Given the description of an element on the screen output the (x, y) to click on. 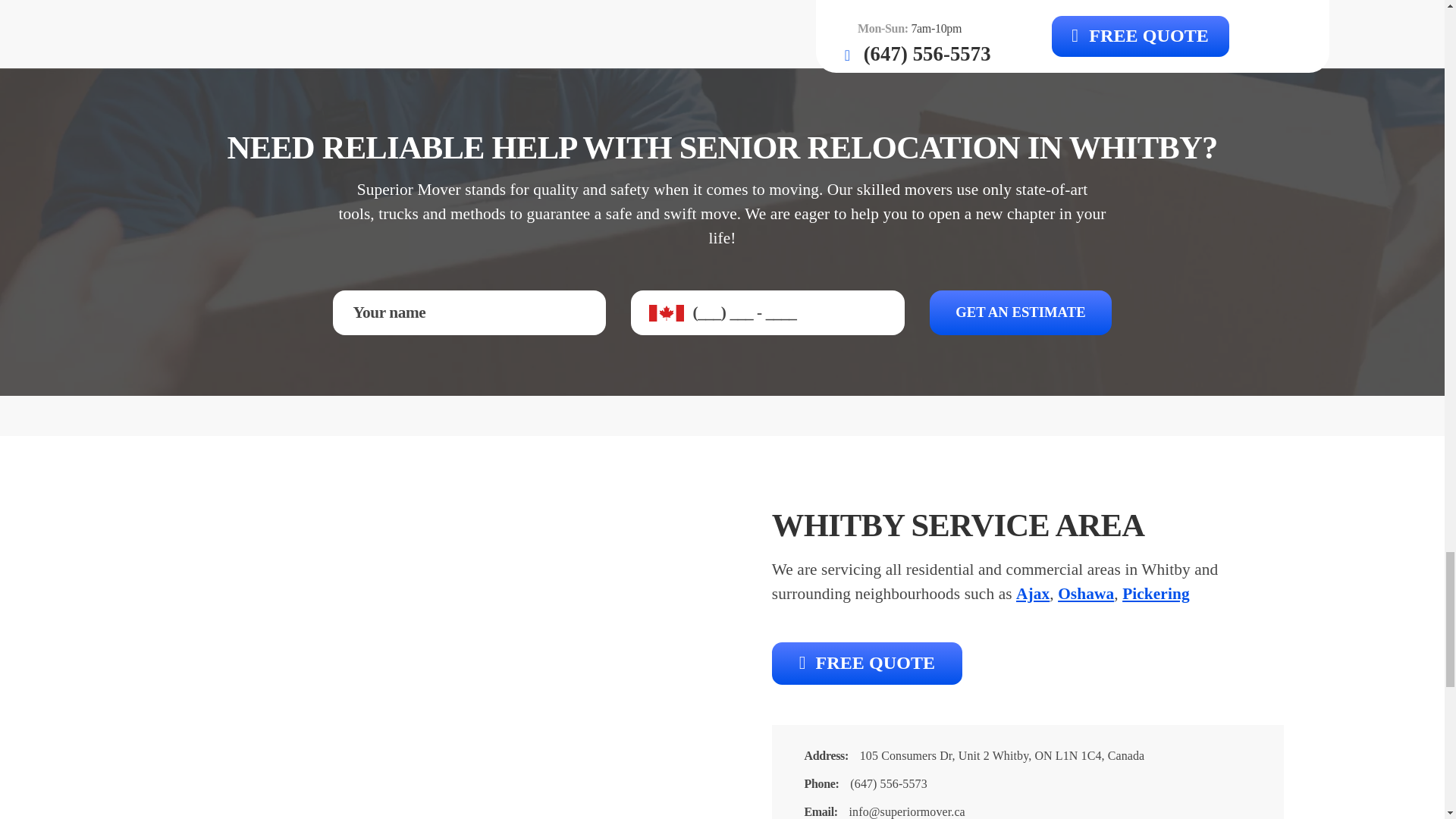
Ajax (1032, 593)
Pickering (1155, 593)
Oshawa (1085, 593)
GET AN ESTIMATE (1021, 312)
